Given the description of an element on the screen output the (x, y) to click on. 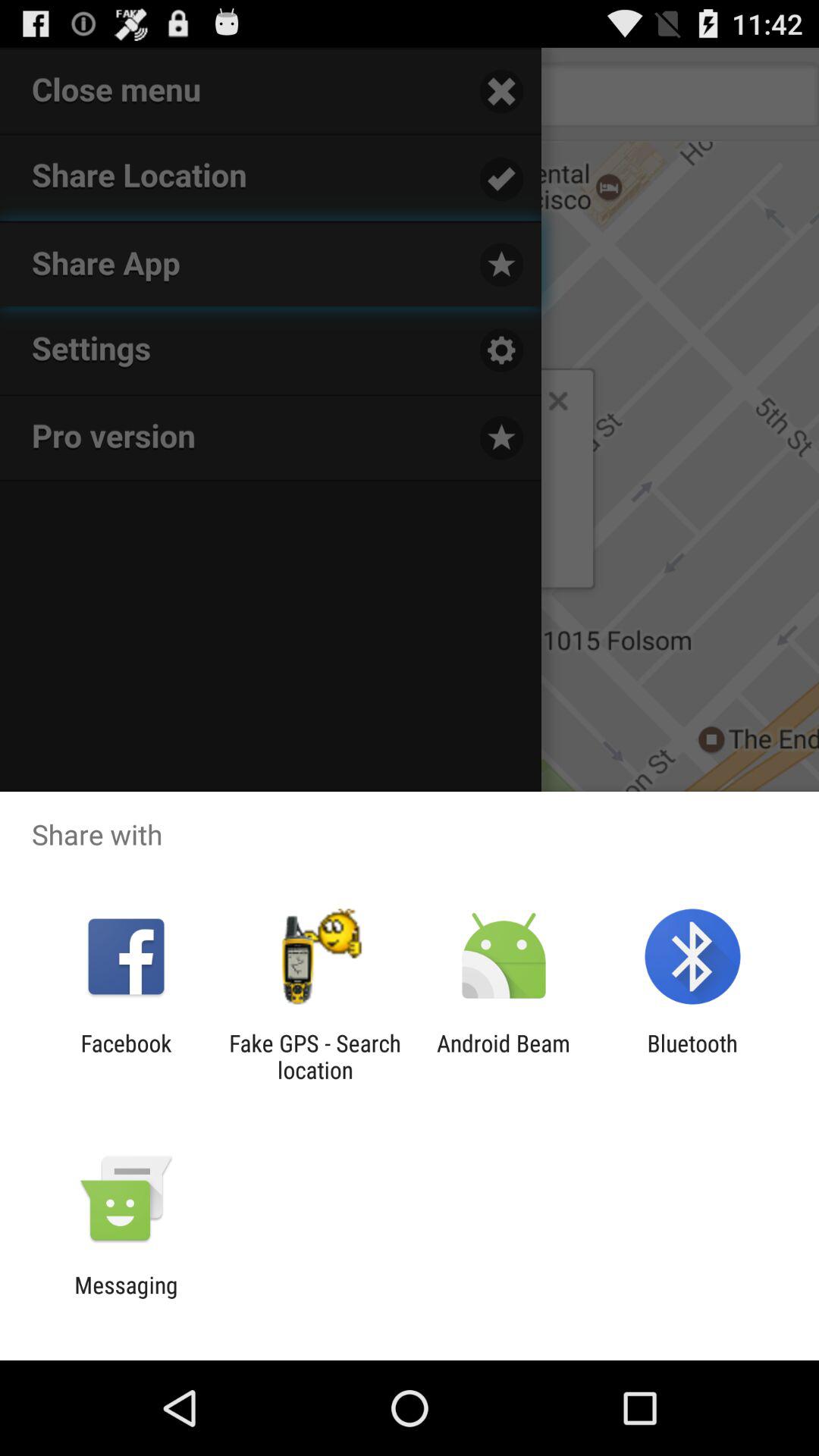
select item to the right of the facebook item (314, 1056)
